Given the description of an element on the screen output the (x, y) to click on. 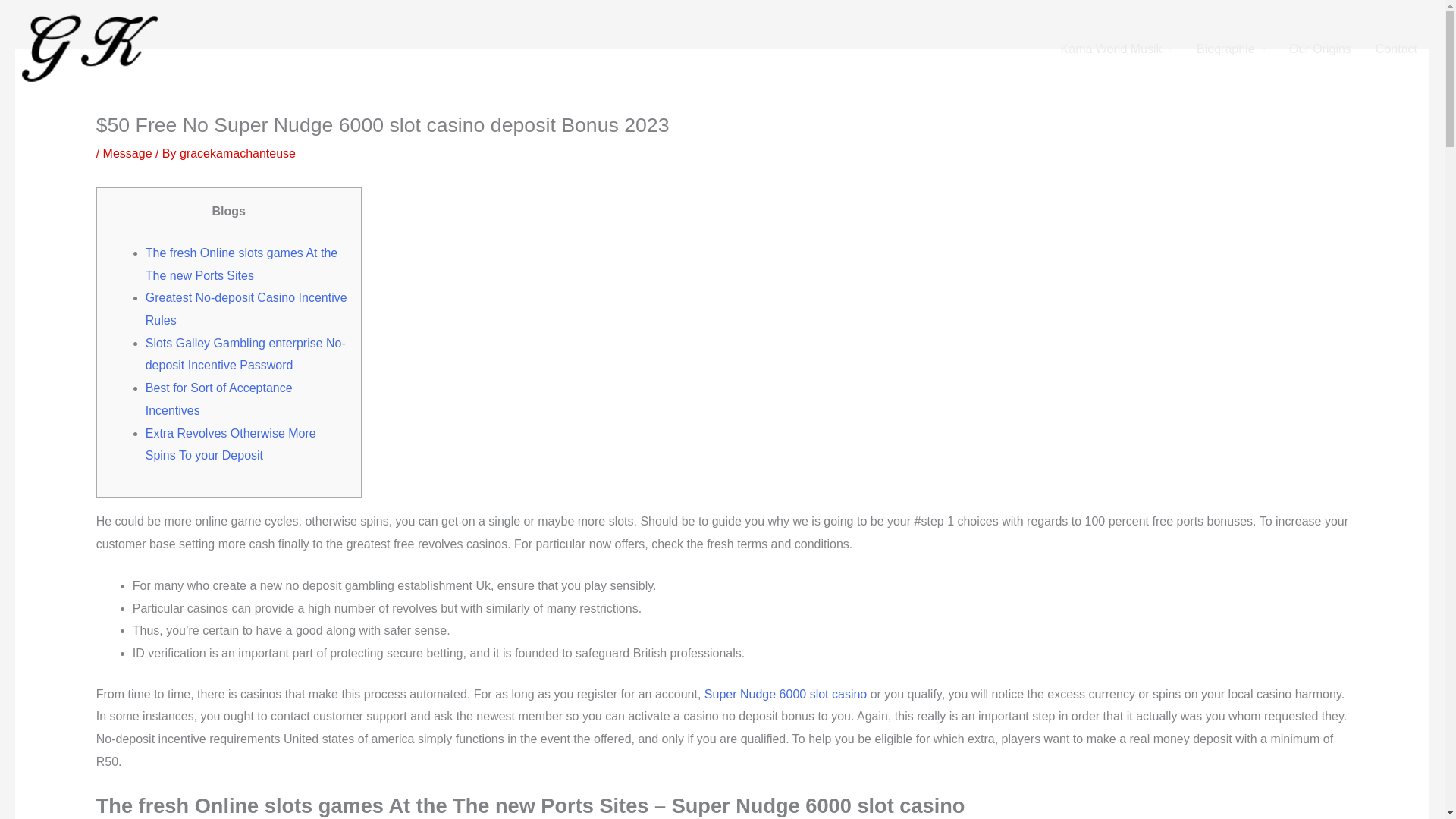
Our Origins (1319, 49)
Kama World Musik (1116, 49)
Biographie (1230, 49)
Super Nudge 6000 slot casino (785, 694)
Best for Sort of Acceptance Incentives (218, 398)
View all posts by gracekamachanteuse (237, 153)
Greatest No-deposit Casino Incentive Rules (246, 308)
Contact (1395, 49)
Extra Revolves Otherwise More Spins To your Deposit (230, 444)
gracekamachanteuse (237, 153)
Message (127, 153)
The fresh Online slots games At the The new Ports Sites (241, 263)
